Given the description of an element on the screen output the (x, y) to click on. 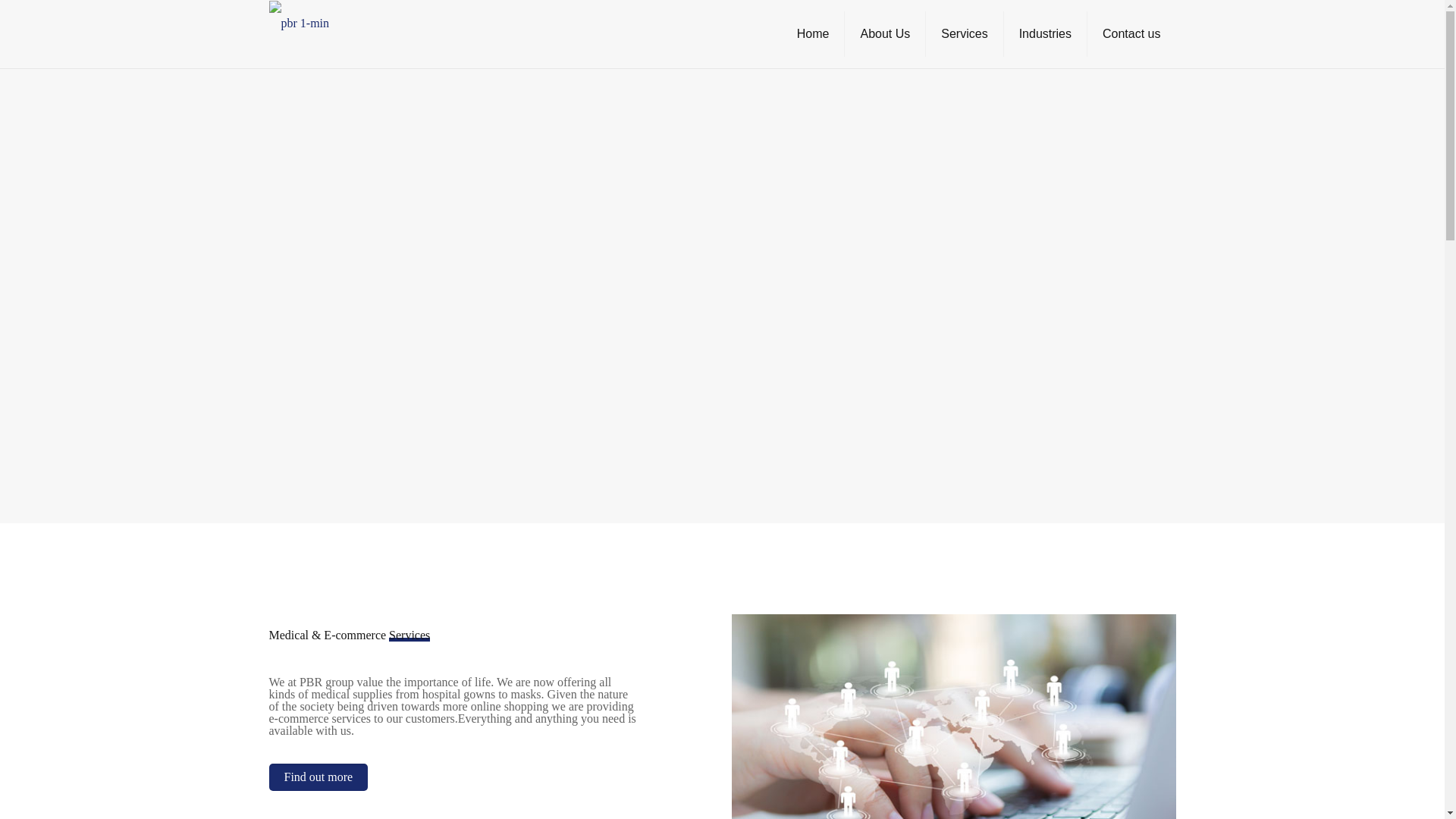
Industries (1045, 33)
Services (964, 33)
Contact us (1130, 33)
Home (813, 33)
About Us (885, 33)
Find out more (317, 777)
PBR Group (298, 22)
